Given the description of an element on the screen output the (x, y) to click on. 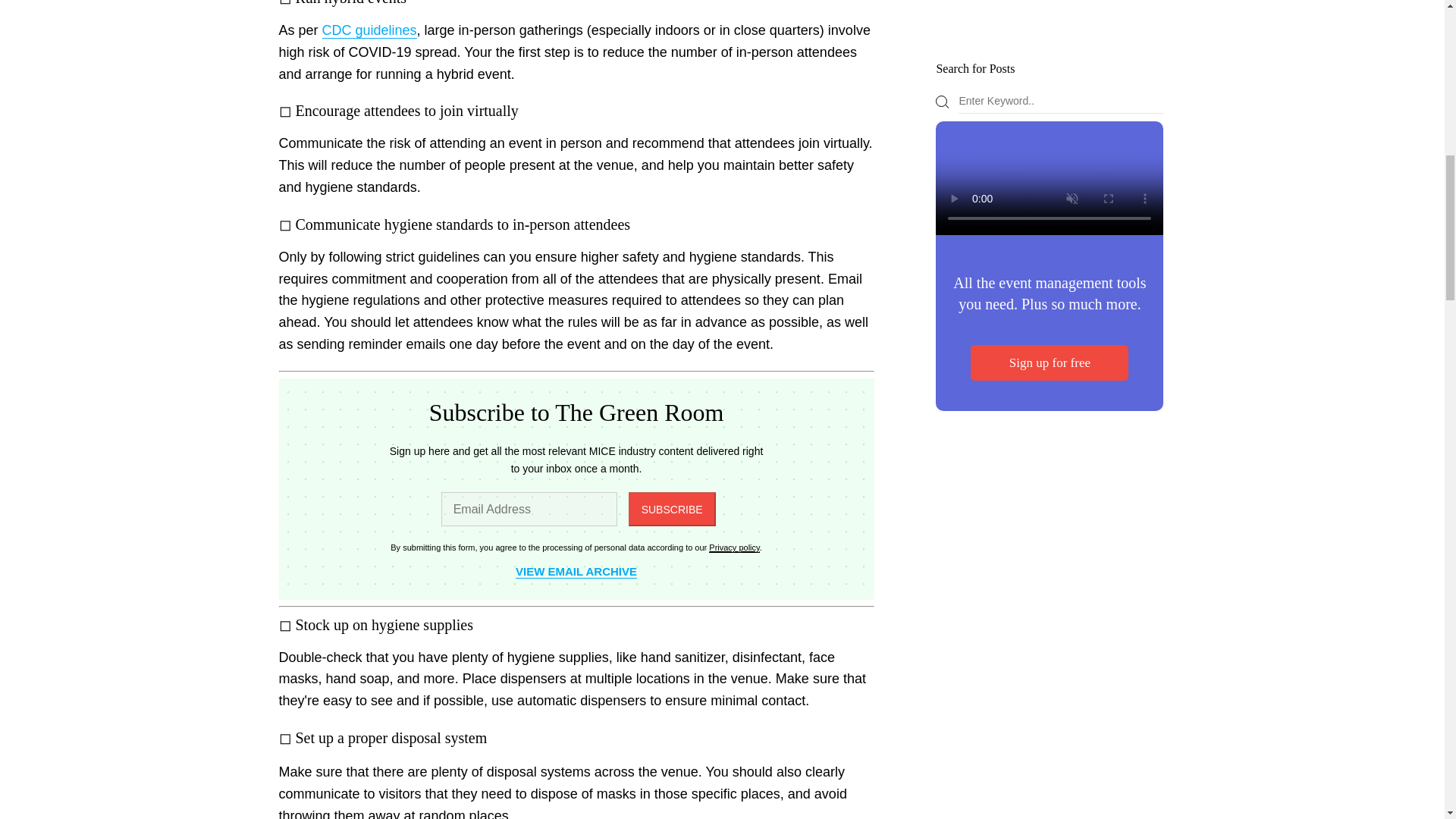
SUBSCRIBE (672, 509)
Privacy policy (733, 547)
CDC guidelines (368, 30)
VIEW EMAIL ARCHIVE (576, 571)
